Given the description of an element on the screen output the (x, y) to click on. 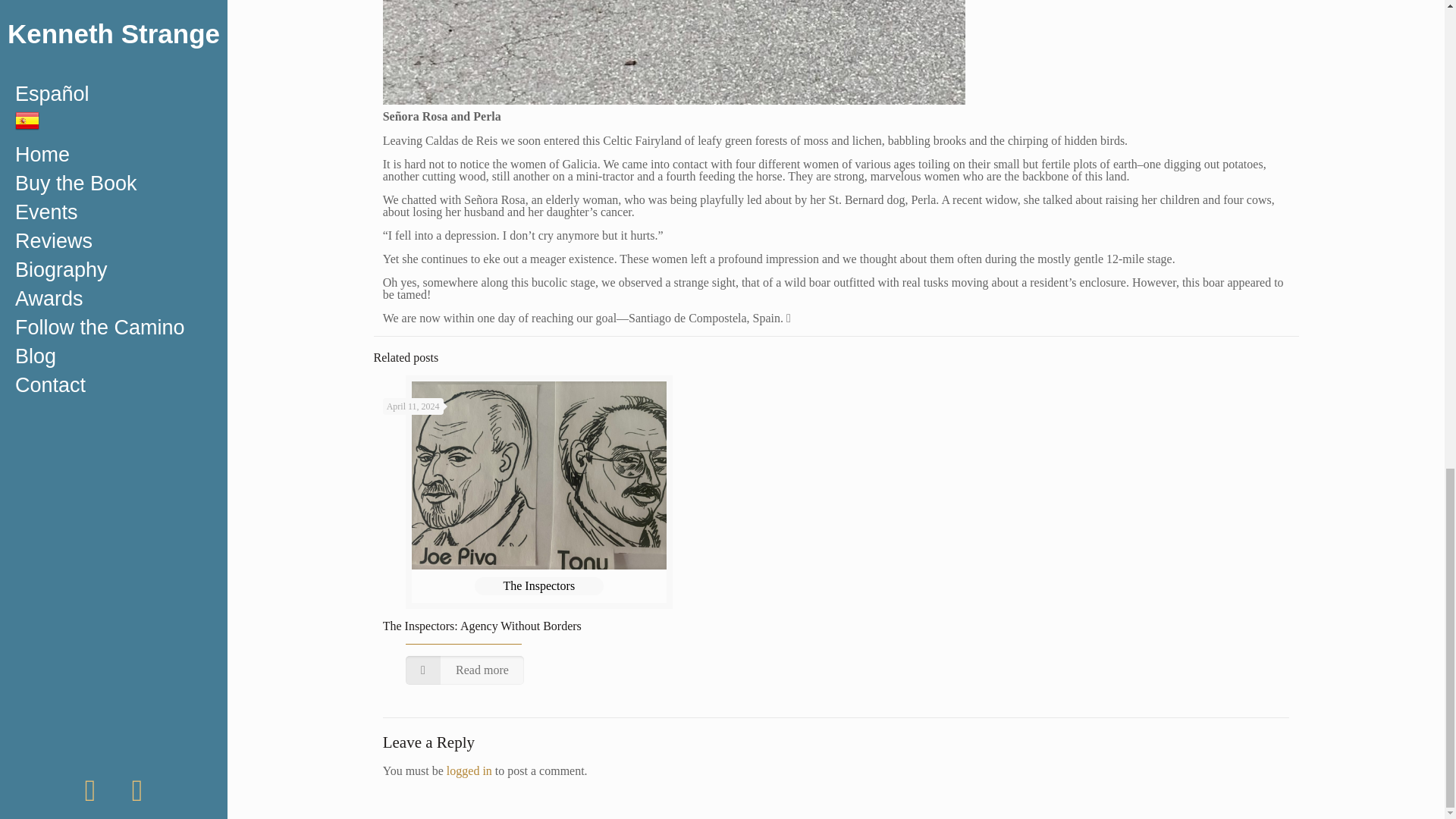
The Inspectors: Agency Without Borders (481, 625)
logged in (469, 770)
Read more (465, 670)
